Given the description of an element on the screen output the (x, y) to click on. 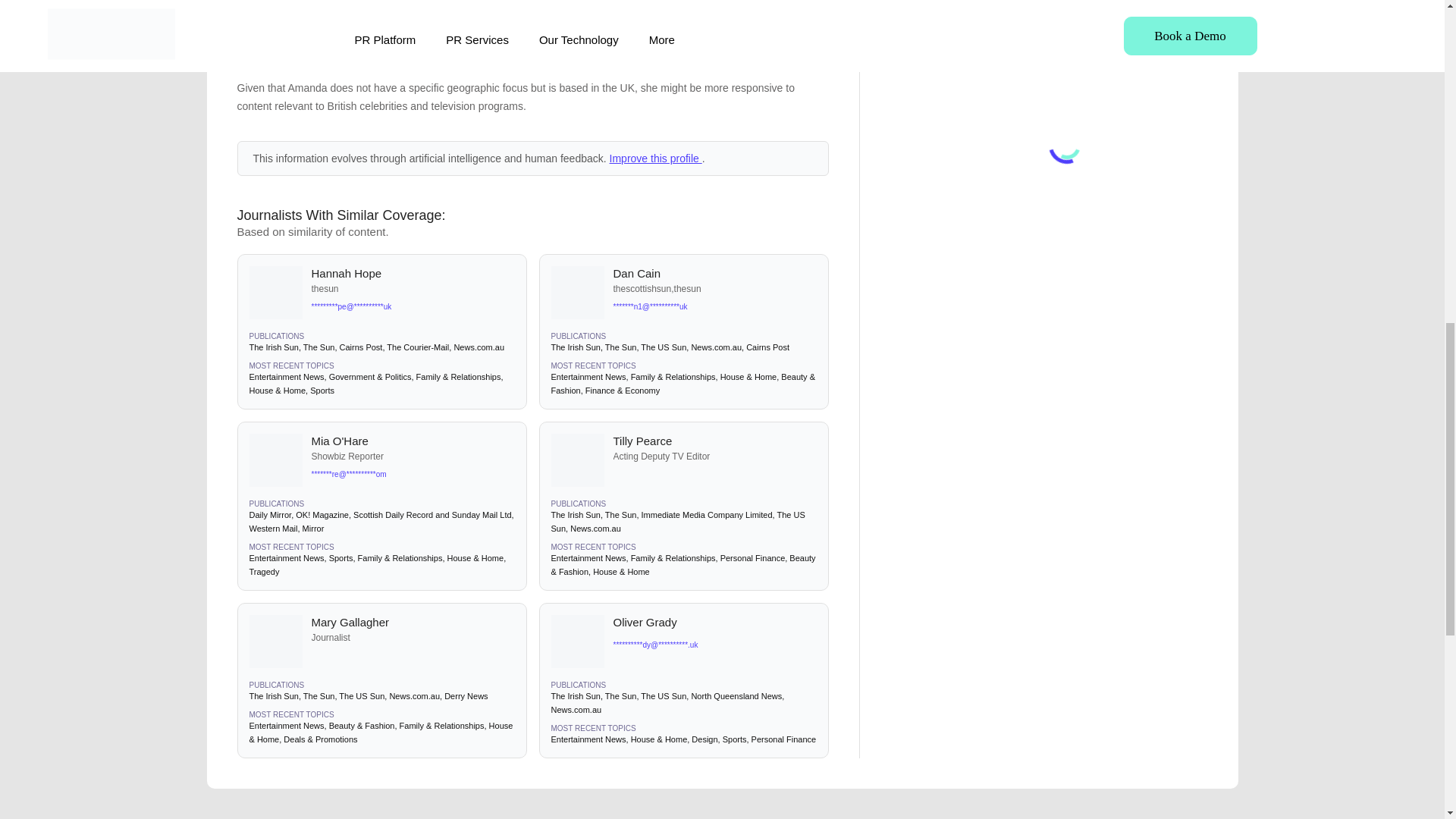
Improve this profile (655, 158)
Dan Cain (713, 273)
The Irish Sun (273, 347)
The Courier-Mail (417, 347)
The Sun (318, 347)
News.com.au (477, 347)
Hannah Hope (412, 273)
Cairns Post (360, 347)
